Given the description of an element on the screen output the (x, y) to click on. 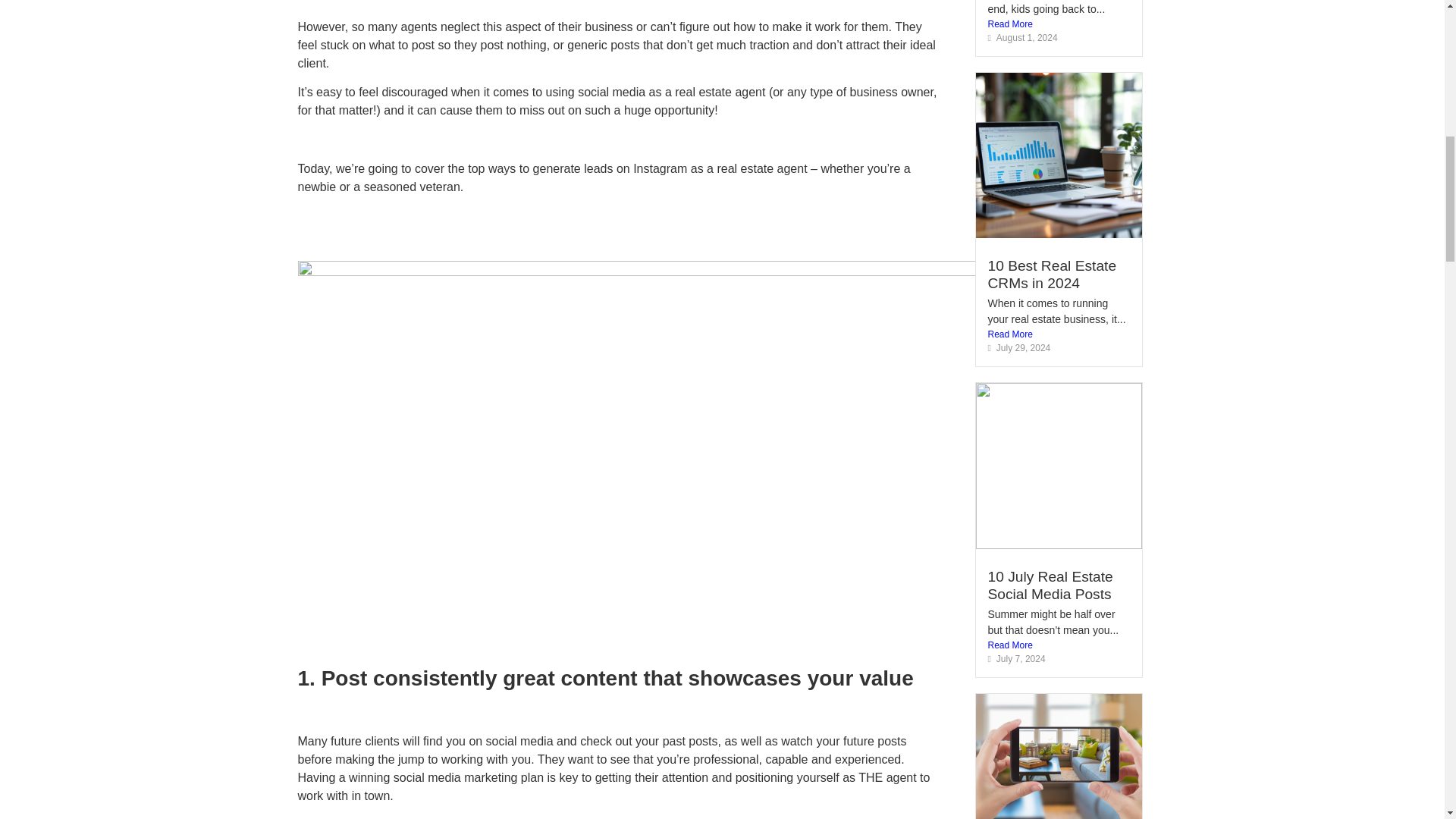
Read More (1058, 24)
10 Best Real Estate CRMs in 2024 (1051, 274)
Read More (1058, 334)
Read More (1058, 644)
10 July Real Estate Social Media Posts (1049, 584)
10 July Real Estate Social Media Posts (1049, 584)
10 Best Real Estate CRMs in 2024 (1051, 274)
